Given the description of an element on the screen output the (x, y) to click on. 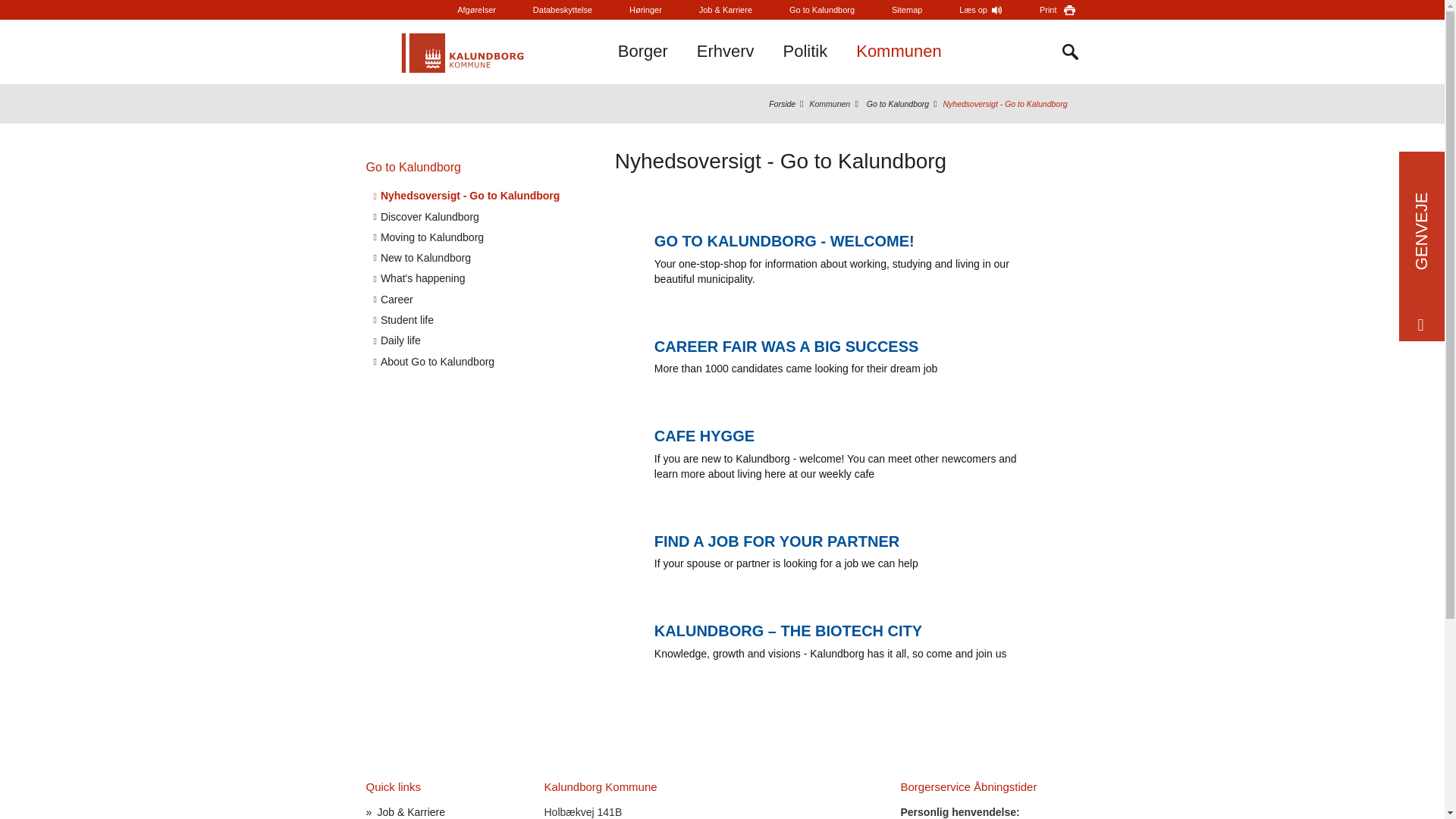
Go to Kalundborg (821, 9)
Databeskyttelse (562, 9)
Sitemap (906, 9)
Print (1057, 9)
